Given the description of an element on the screen output the (x, y) to click on. 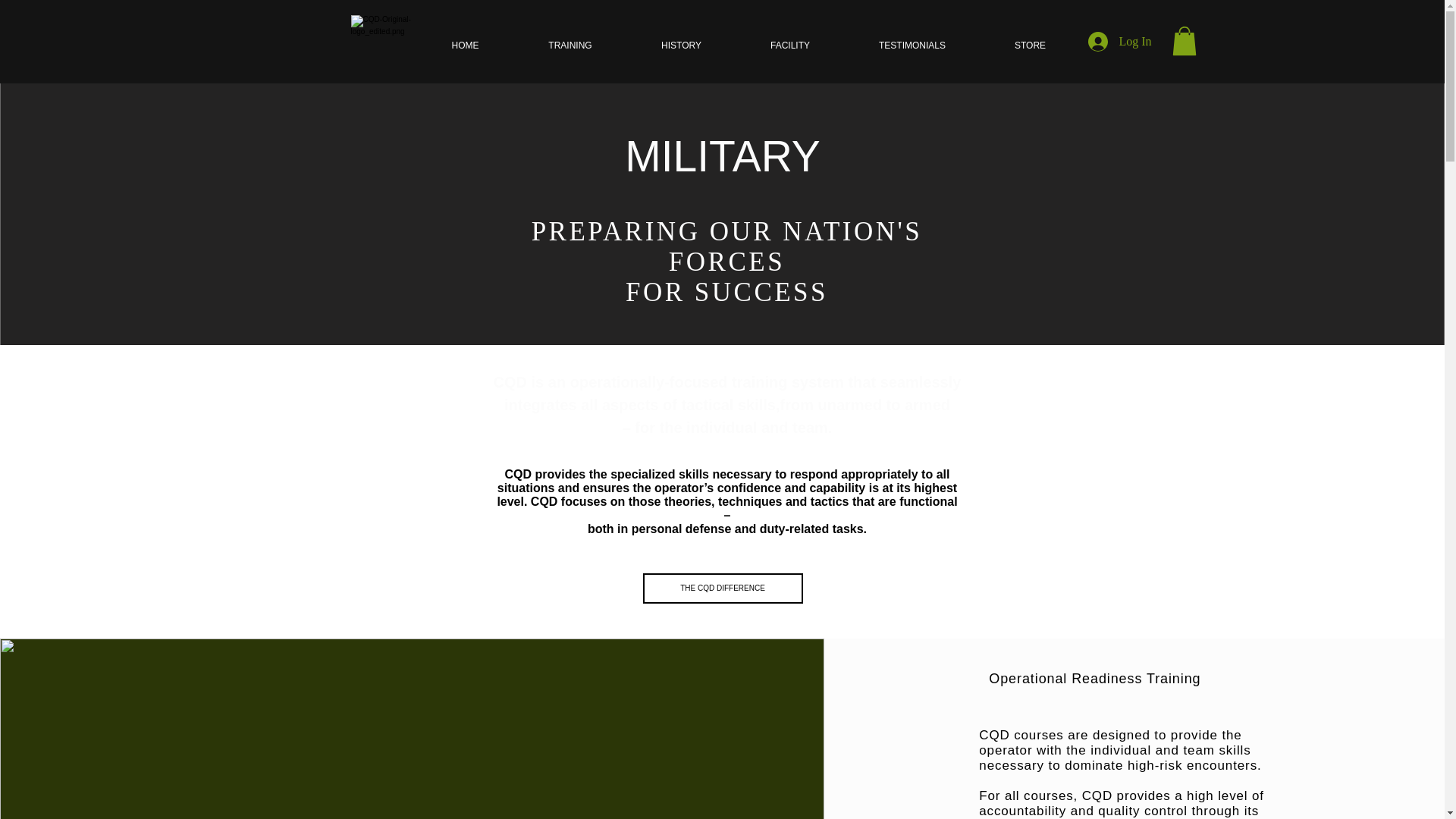
FACILITY (789, 45)
HOME (464, 45)
Log In (1119, 41)
STORE (1029, 45)
THE CQD DIFFERENCE (723, 588)
